Given the description of an element on the screen output the (x, y) to click on. 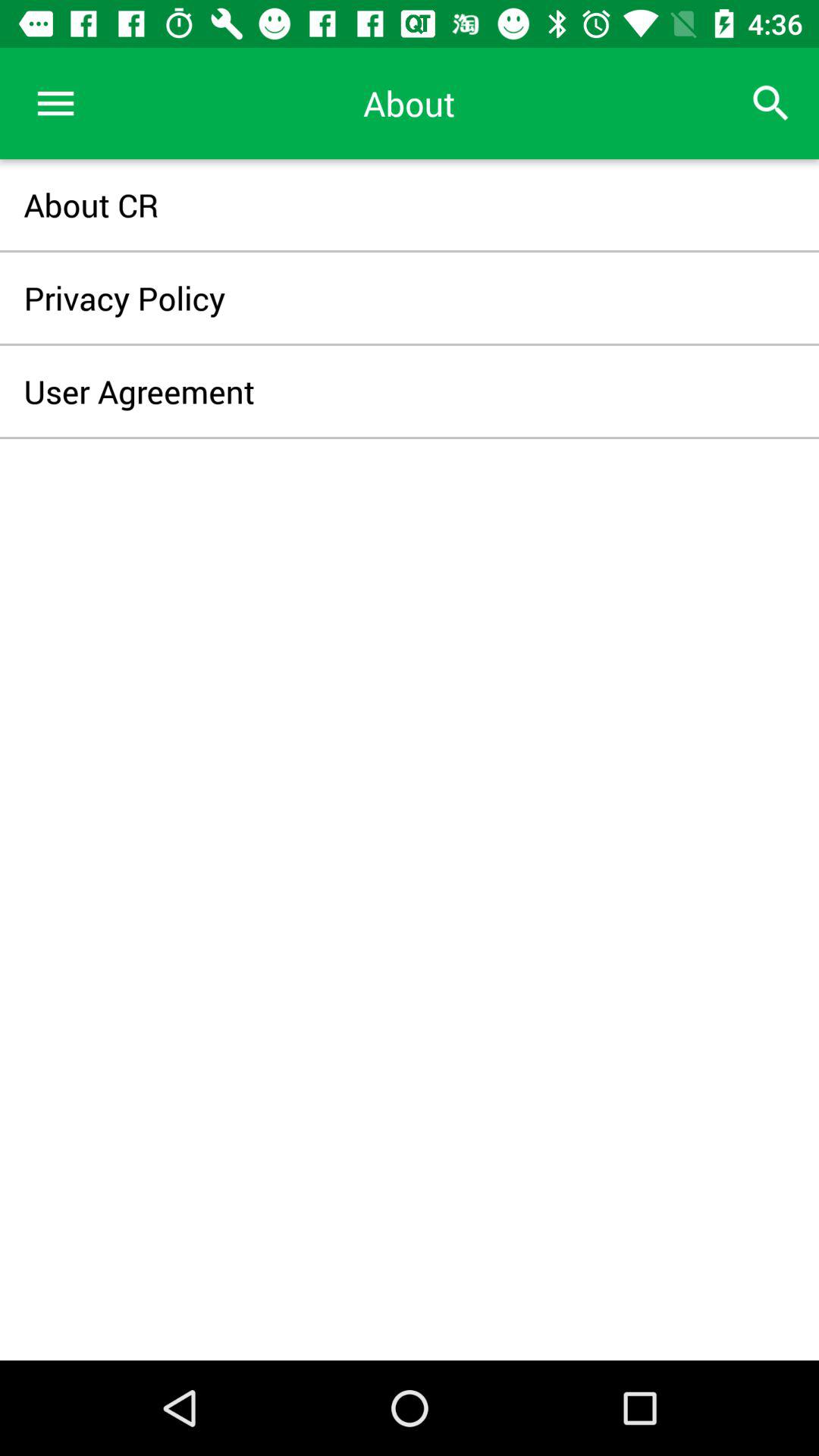
select the icon next to about icon (771, 103)
